Given the description of an element on the screen output the (x, y) to click on. 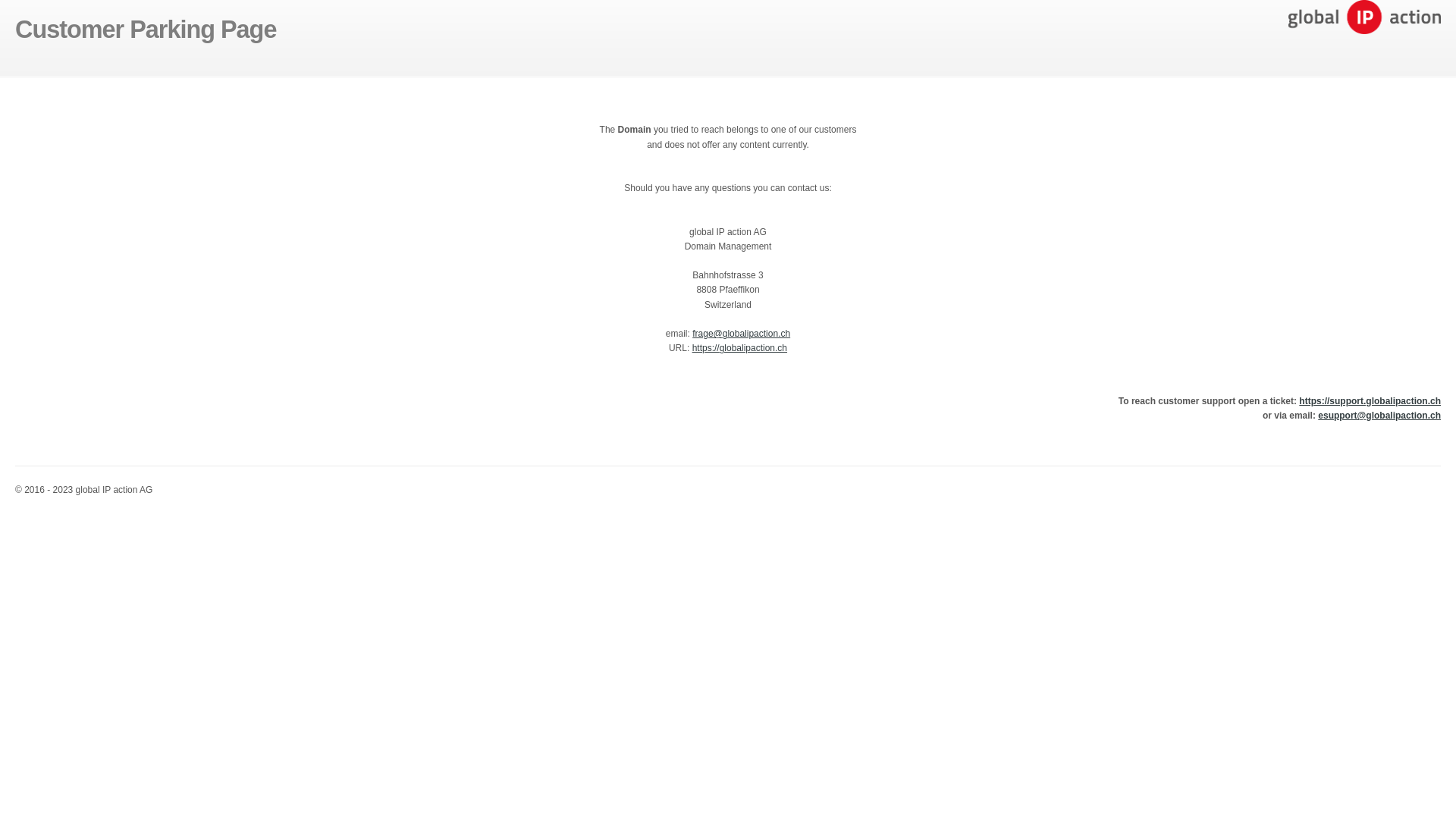
esupport@globalipaction.ch Element type: text (1378, 415)
https://support.globalipaction.ch Element type: text (1369, 400)
https://globalipaction.ch Element type: text (739, 347)
frage@globalipaction.ch Element type: text (741, 333)
